Given the description of an element on the screen output the (x, y) to click on. 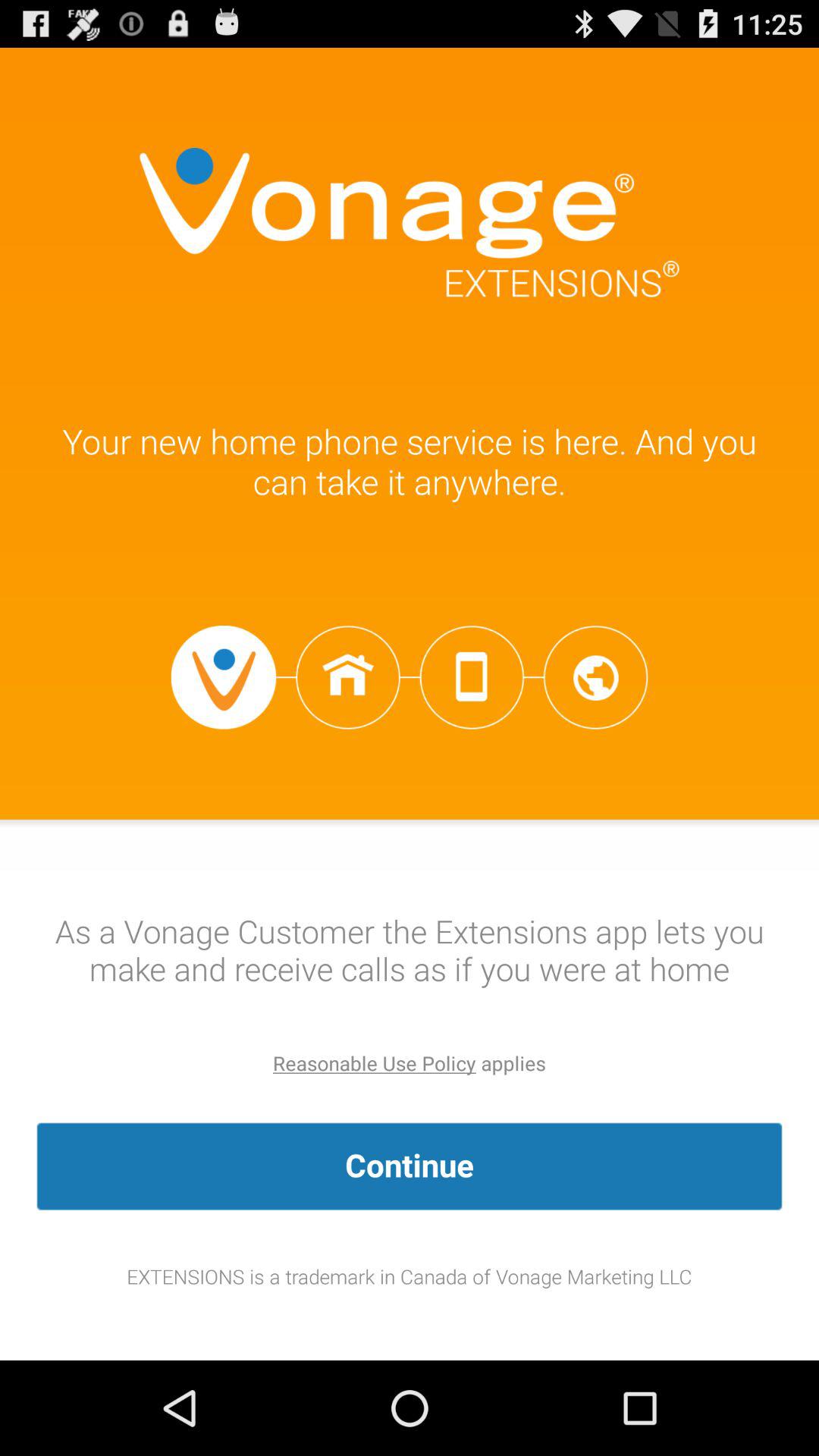
choose item to the left of  applies icon (374, 1062)
